Given the description of an element on the screen output the (x, y) to click on. 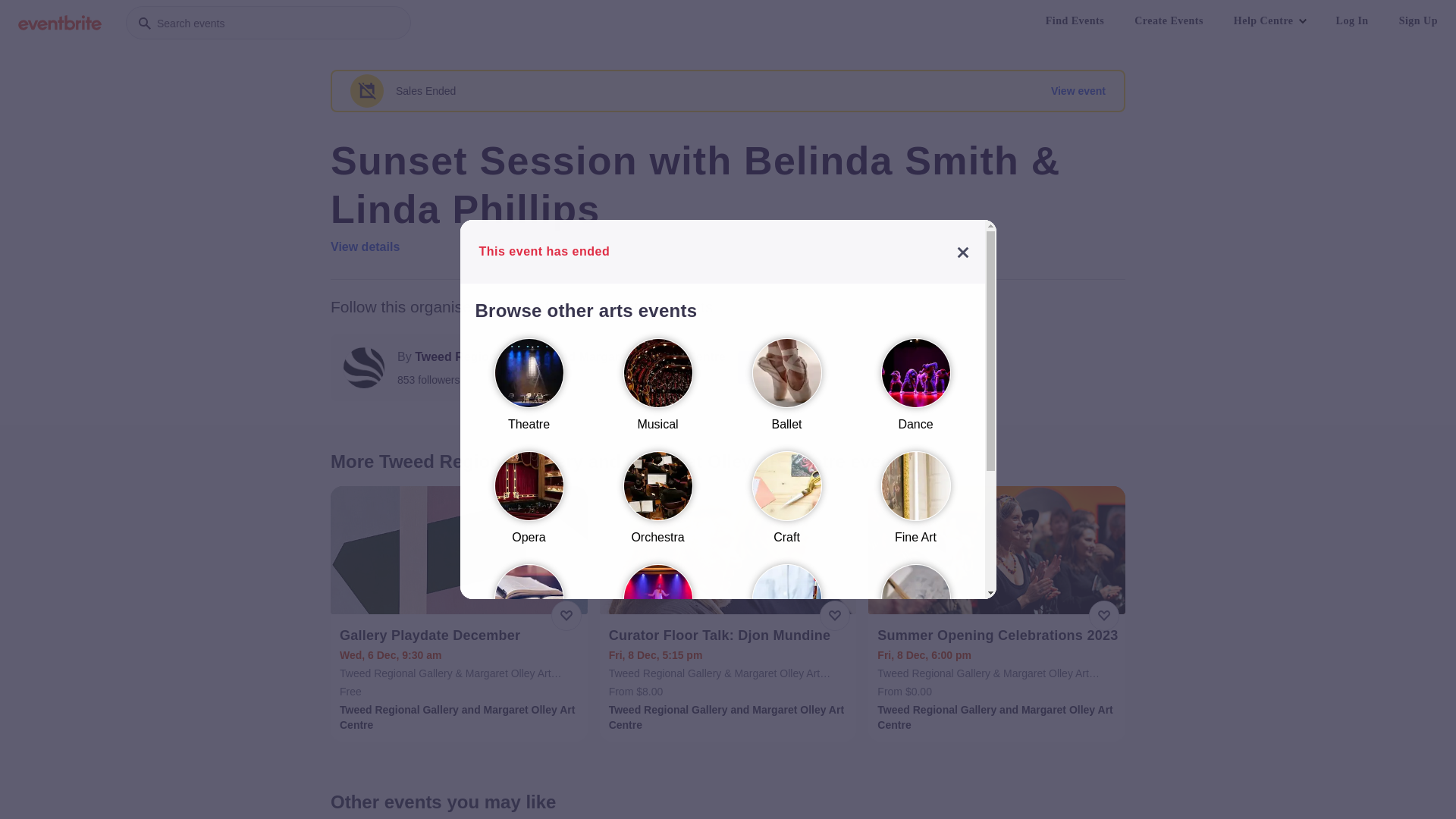
View details Element type: text (364, 246)
Search events Element type: text (268, 22)
View event Element type: text (1078, 90)
Orchestra Element type: text (657, 504)
Summer Opening Celebrations 2023 Element type: text (998, 635)
Craft Element type: text (785, 504)
Eventbrite Element type: hover (59, 22)
Literary Arts Element type: text (528, 617)
Ballet Element type: text (785, 391)
Log In Element type: text (1352, 21)
Curator Floor Talk: Djon Mundine Element type: text (729, 635)
Opera Element type: text (528, 504)
Theatre Element type: text (528, 391)
Gallery Playdate December Element type: text (460, 635)
Musical Element type: text (657, 391)
Jewelry Element type: text (528, 730)
Design Element type: text (914, 617)
Find Events Element type: text (1074, 21)
Comedy Element type: text (657, 617)
Dance Element type: text (914, 391)
Fine Art Element type: text (914, 504)
Create Events Element type: text (1168, 21)
Painting Element type: text (785, 617)
Follow Element type: text (778, 367)
Sign Up Element type: text (1417, 21)
